Given the description of an element on the screen output the (x, y) to click on. 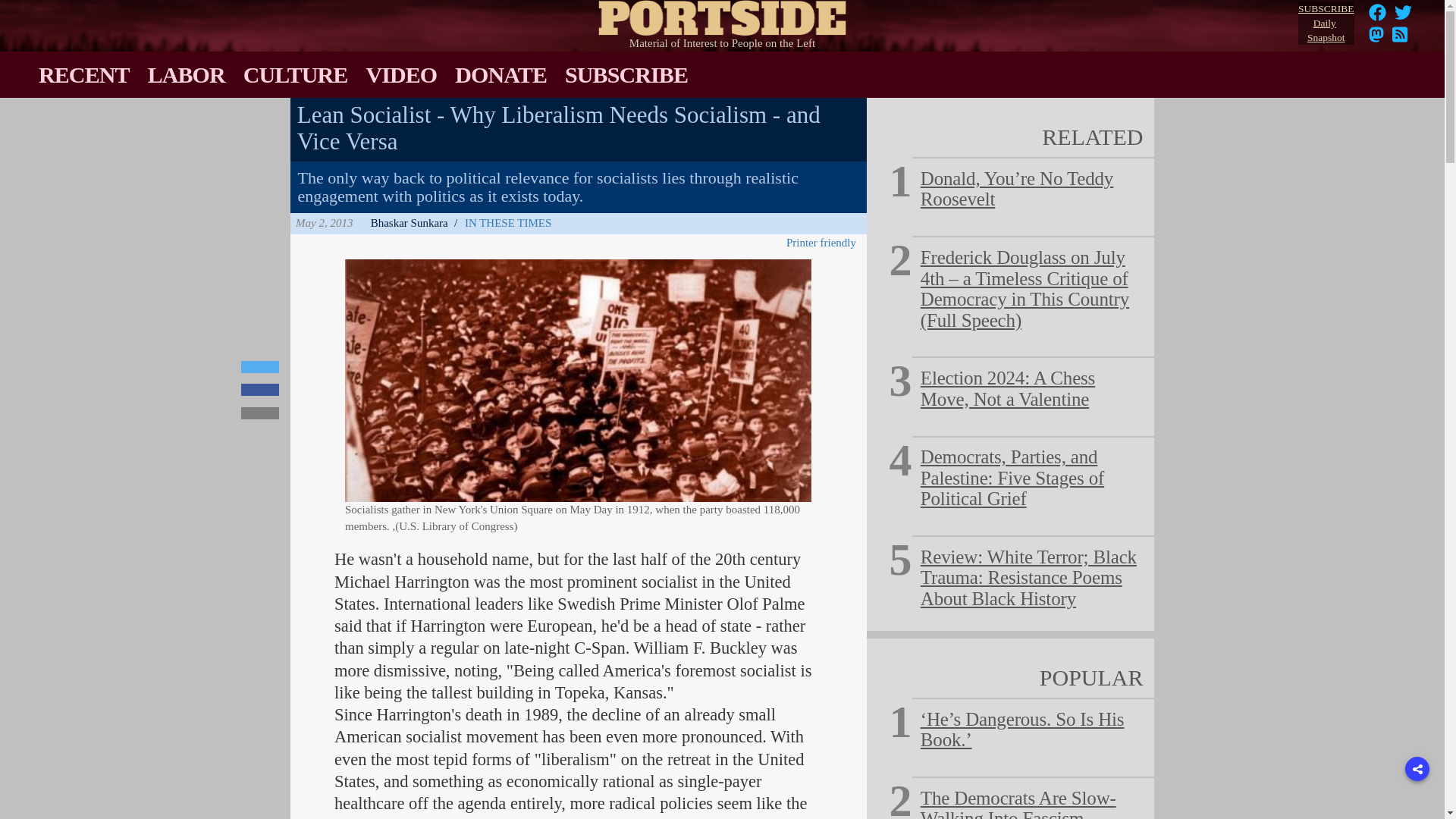
VIDEO (400, 74)
DONATE (500, 74)
Portside Labor articles (186, 74)
Election 2024: A Chess Move, Not a Valentine (1007, 388)
Twitter (260, 367)
Follow Portside on Twitter (1403, 16)
Facebook (1377, 16)
RSS (1399, 39)
Printer friendly   (823, 242)
The Democrats Are Slow-Walking Into Fascism (1018, 803)
RECENT (83, 74)
Mastodon (1326, 23)
Follow Portside's RSS feed (1376, 39)
